Given the description of an element on the screen output the (x, y) to click on. 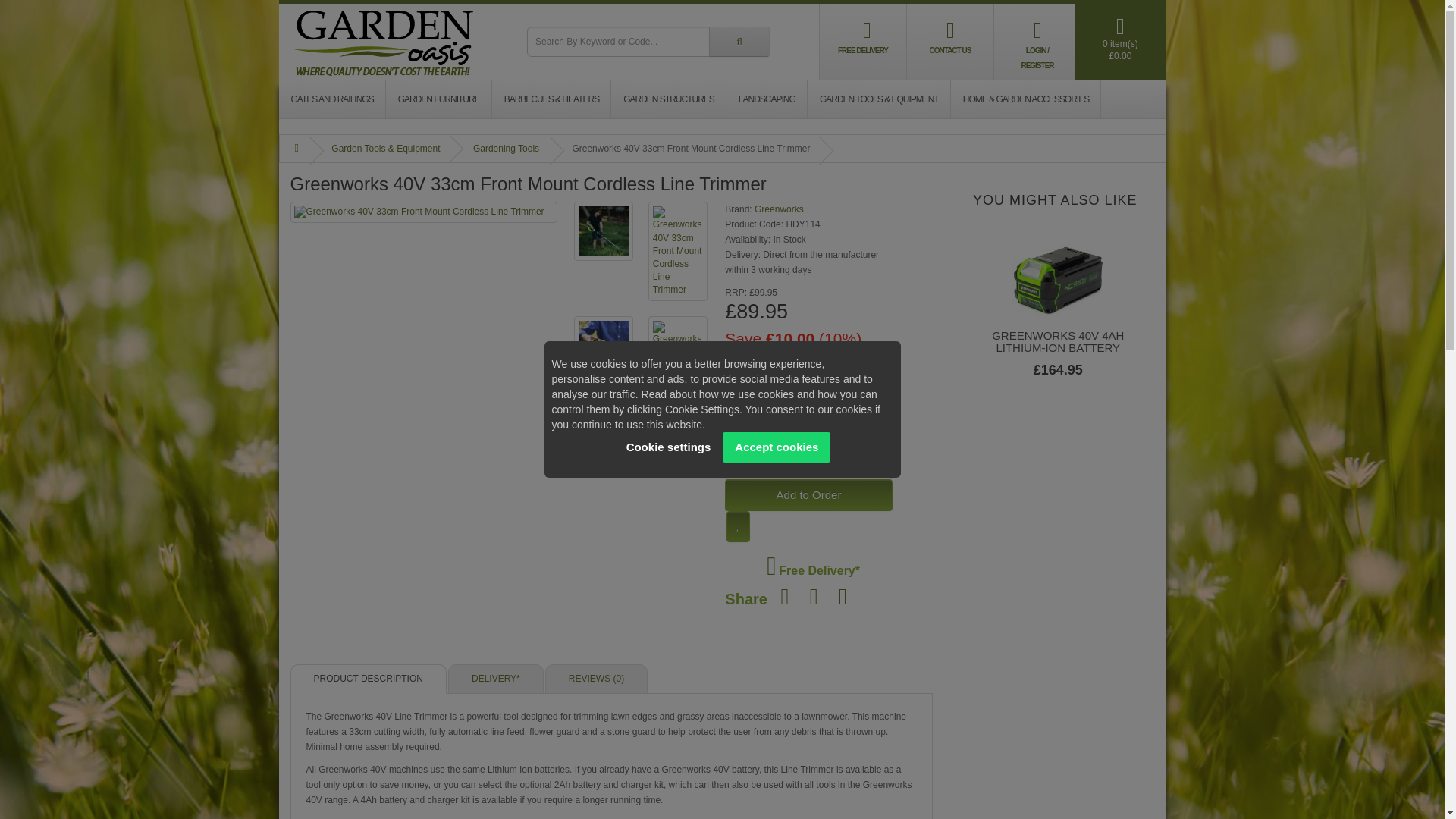
1 (808, 466)
CONTACT US (950, 34)
FREE DELIVERY (863, 34)
GATES AND RAILINGS (332, 98)
Garden Oasis (384, 41)
